Given the description of an element on the screen output the (x, y) to click on. 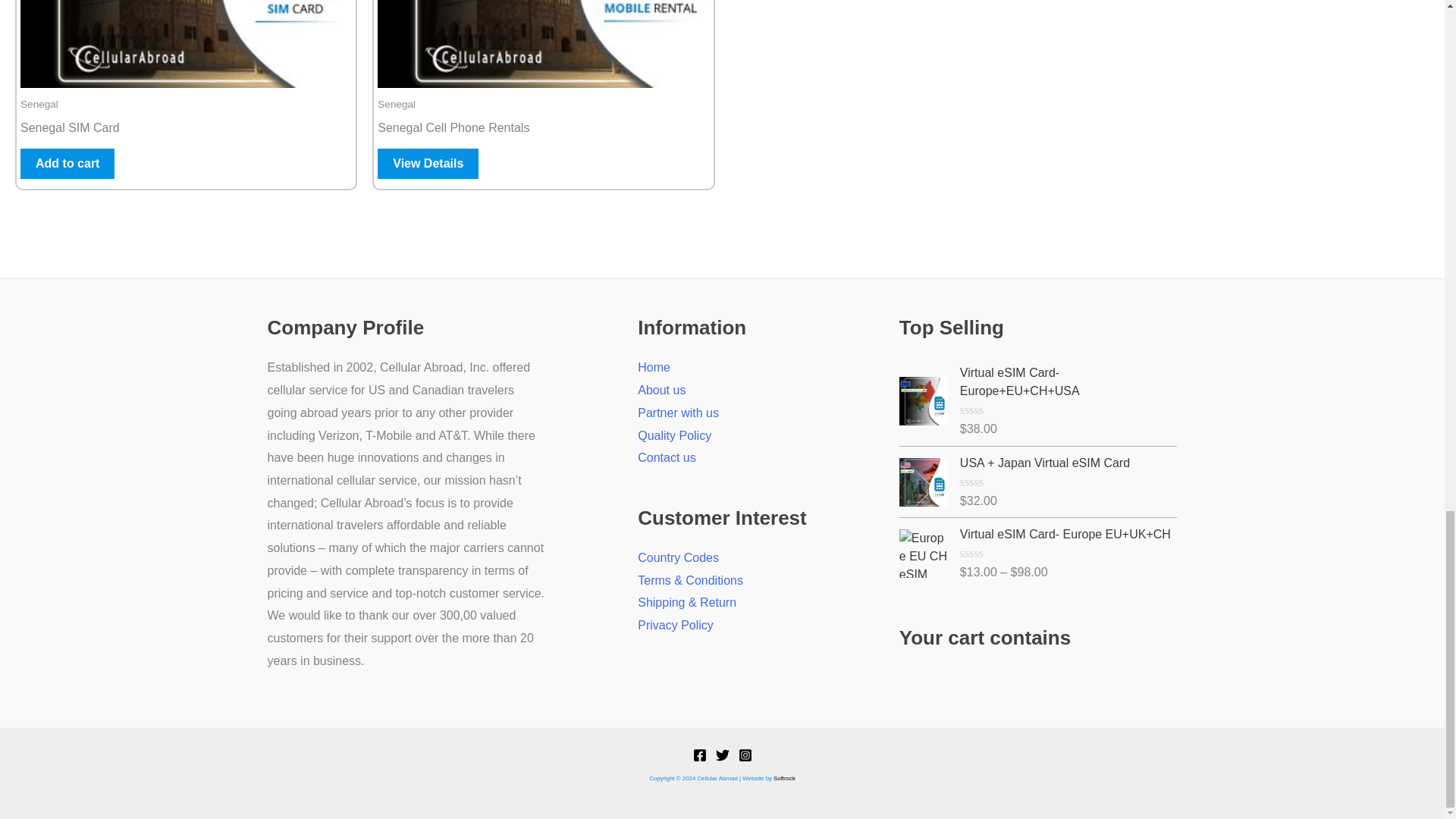
Add to cart (67, 163)
Country Codes (678, 557)
Senegal SIM Card (186, 131)
View Details (428, 163)
Contact us (666, 457)
Home (653, 367)
Privacy Policy (675, 625)
About us (661, 390)
Quality Policy (674, 435)
Senegal Cell Phone Rentals (543, 131)
Partner with us (678, 412)
